Given the description of an element on the screen output the (x, y) to click on. 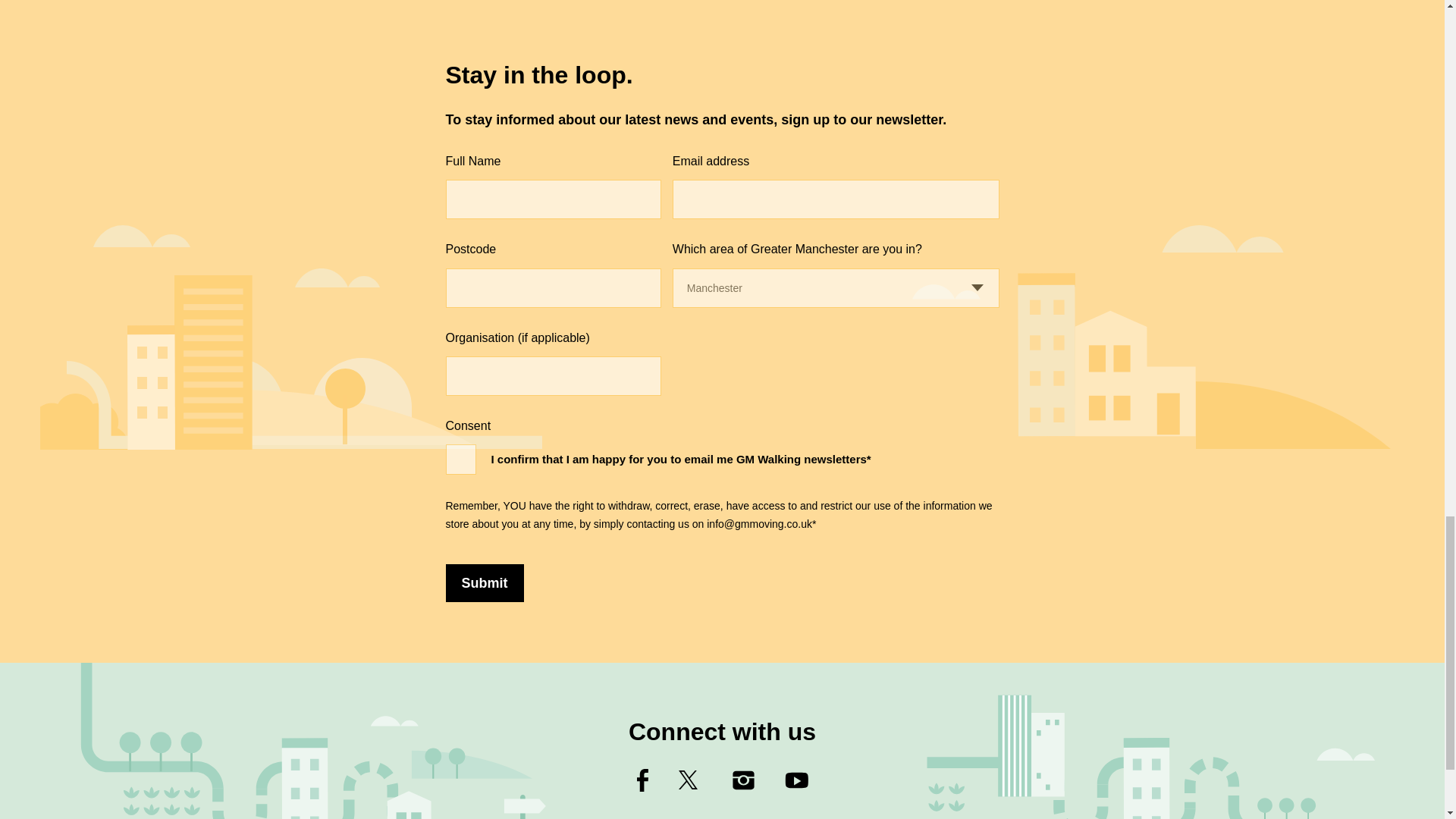
Submit (484, 582)
1 (460, 459)
Submit (484, 582)
